Given the description of an element on the screen output the (x, y) to click on. 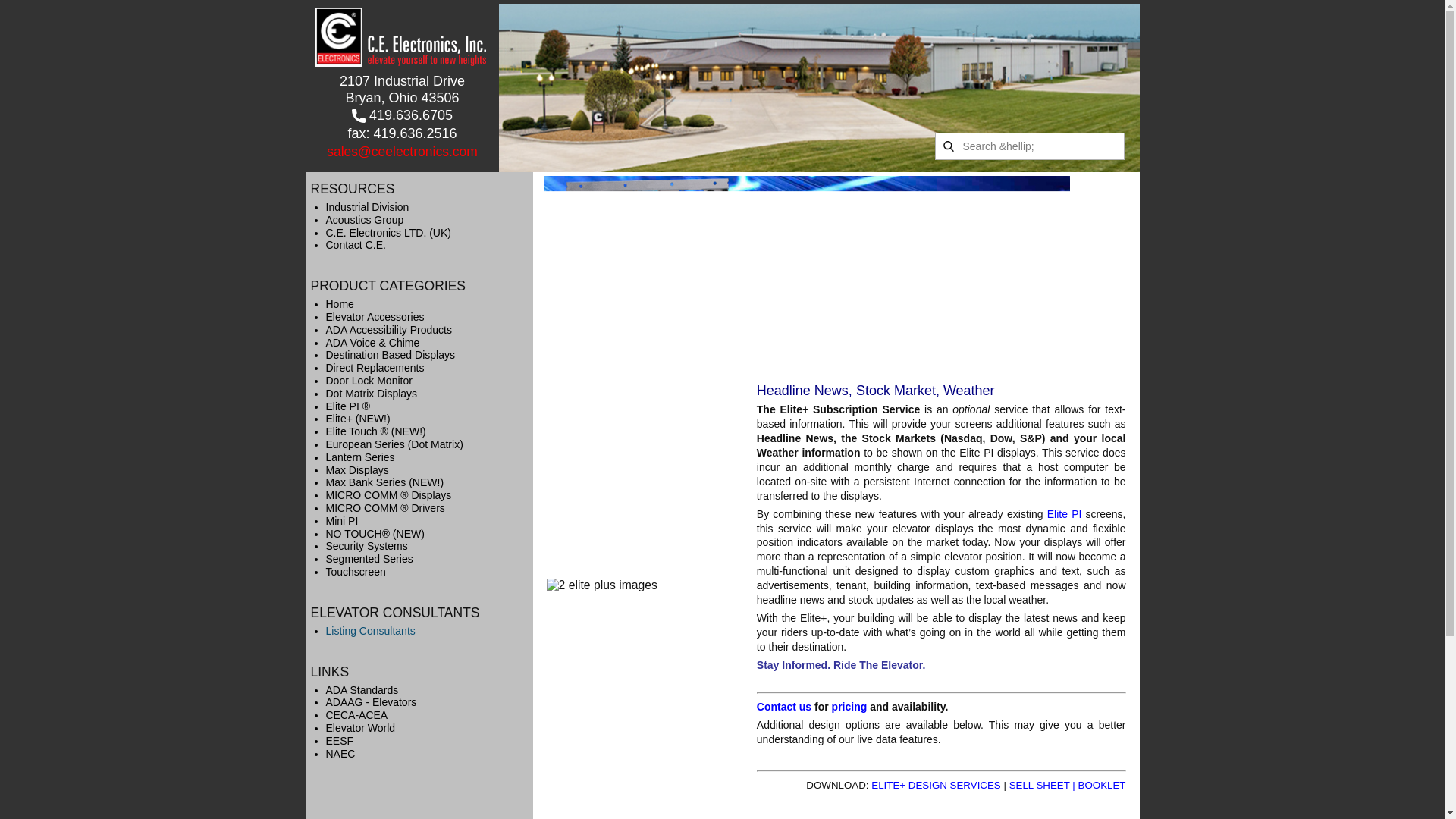
Elite Plus Design Services 041824 (849, 706)
Home (338, 36)
Elite PI (1063, 513)
Elite Plus Design Services 041824 (935, 785)
419.636.6705 (402, 116)
